Given the description of an element on the screen output the (x, y) to click on. 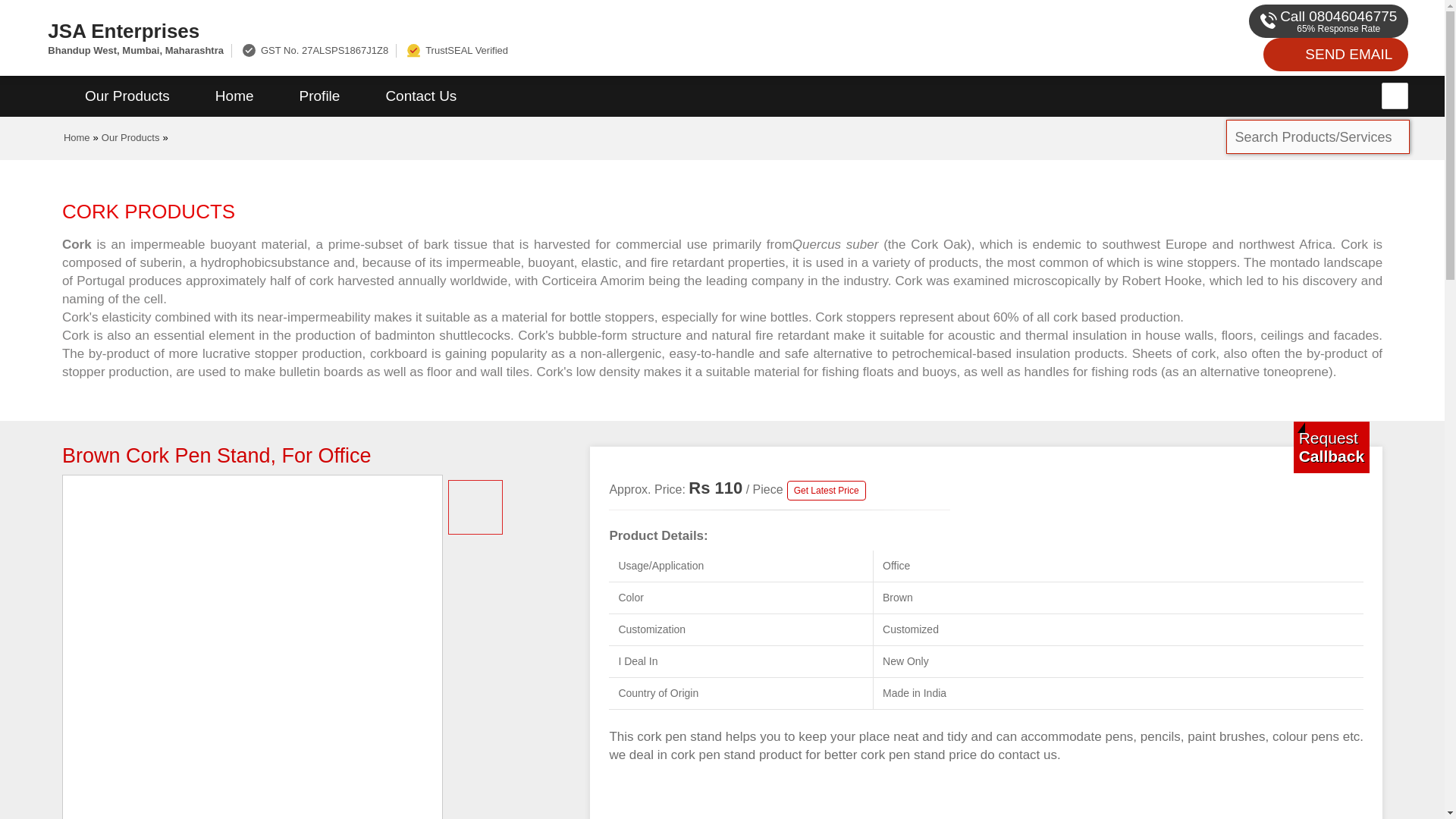
Home (234, 96)
Our Products (127, 96)
JSA Enterprises (552, 31)
Our Products (130, 137)
Home (77, 137)
Get a Call from us (1332, 447)
Profile (319, 96)
Contact Us (420, 96)
